Given the description of an element on the screen output the (x, y) to click on. 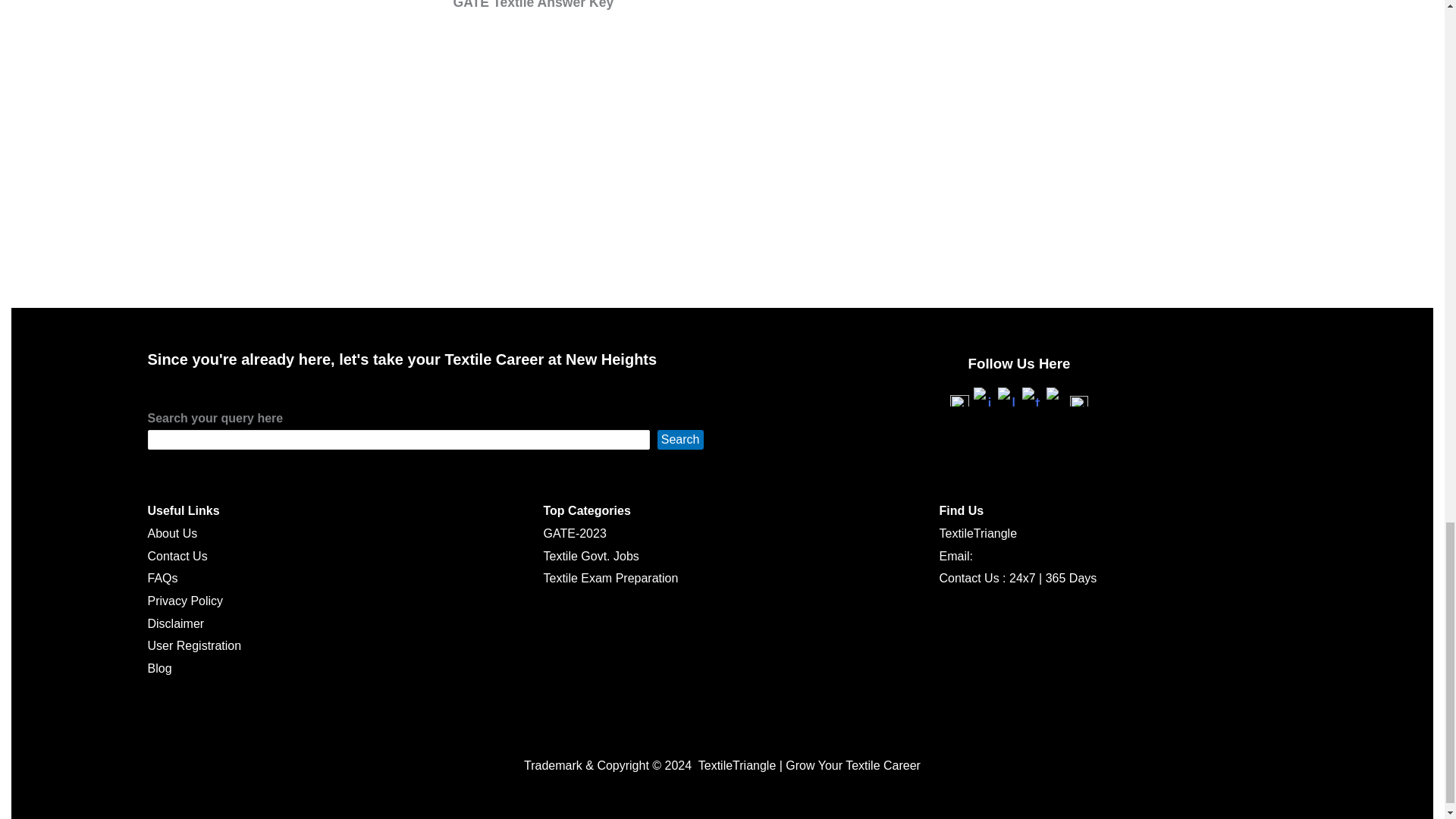
Blog (159, 667)
About Us (171, 533)
GATE-2023 (574, 533)
Disclaimer (175, 623)
Search (680, 439)
Textile Govt. Jobs (591, 555)
Privacy Policy (184, 600)
FAQs (162, 577)
Contact Us (176, 555)
